Given the description of an element on the screen output the (x, y) to click on. 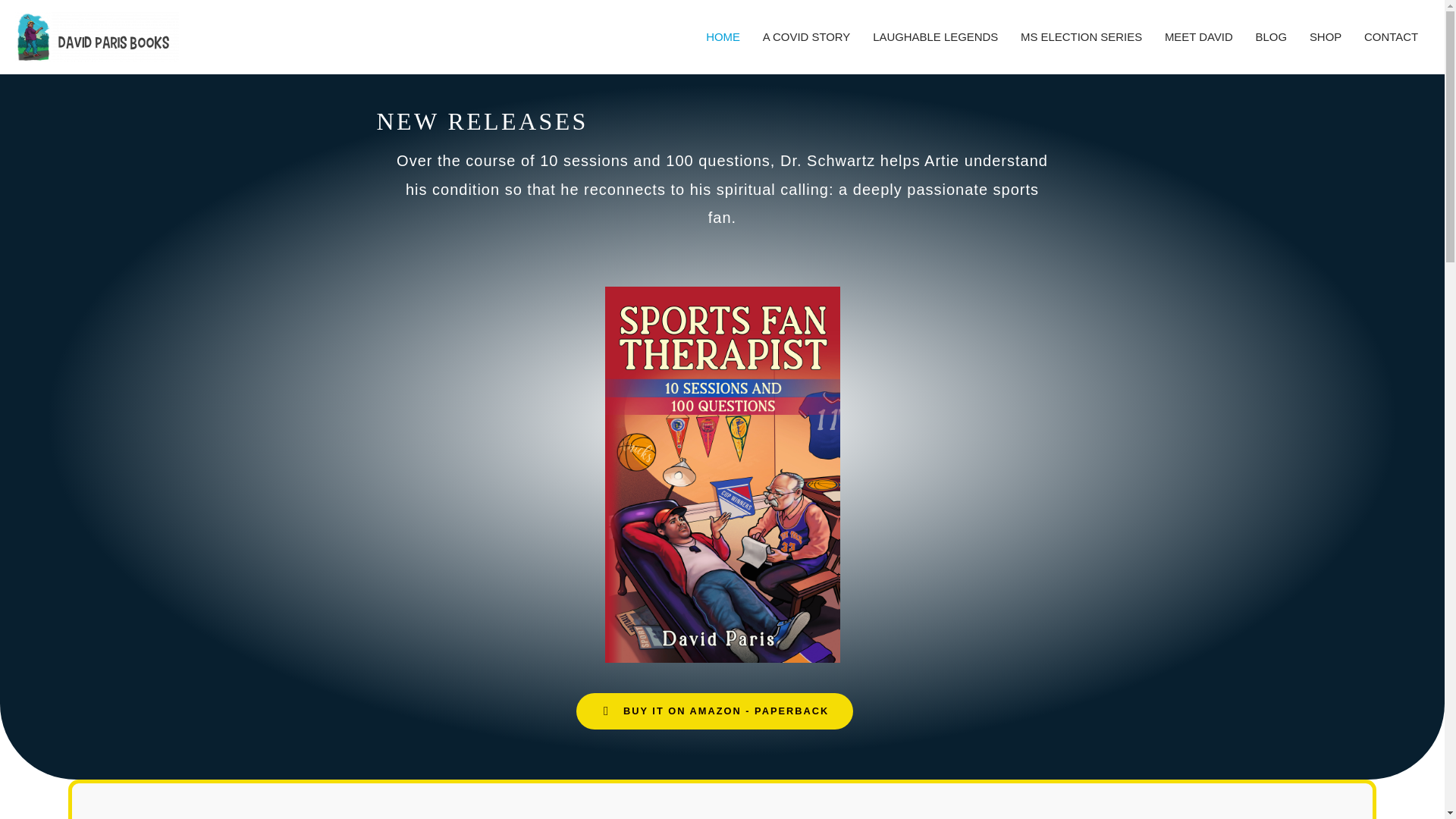
CONTACT (1390, 37)
HOME (722, 37)
BUY IT ON AMAZON - PAPERBACK (714, 711)
BLOG (1271, 37)
MEET DAVID (1198, 37)
LAUGHABLE LEGENDS (935, 37)
SHOP (1325, 37)
MS ELECTION SERIES (1081, 37)
A COVID STORY (806, 37)
